Given the description of an element on the screen output the (x, y) to click on. 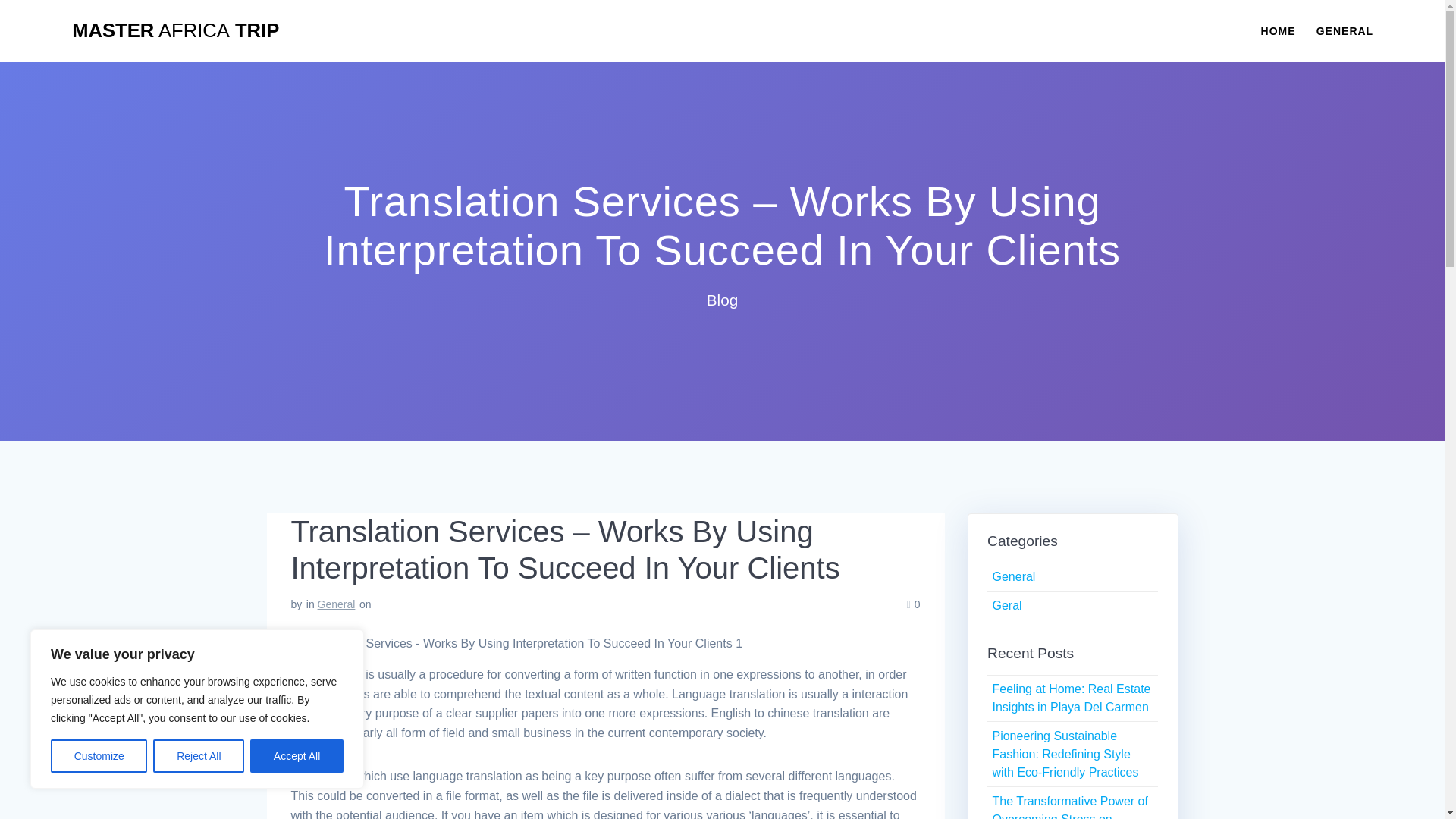
Accept All (296, 756)
Customize (98, 756)
General (1013, 576)
The Transformative Power of Overcoming Stress on Fertility (1069, 806)
Reject All (198, 756)
HOME (1277, 30)
Geral (1006, 604)
General (336, 604)
GENERAL (1344, 30)
MASTER AFRICA TRIP (175, 30)
Feeling at Home: Real Estate Insights in Playa Del Carmen (1070, 697)
